Given the description of an element on the screen output the (x, y) to click on. 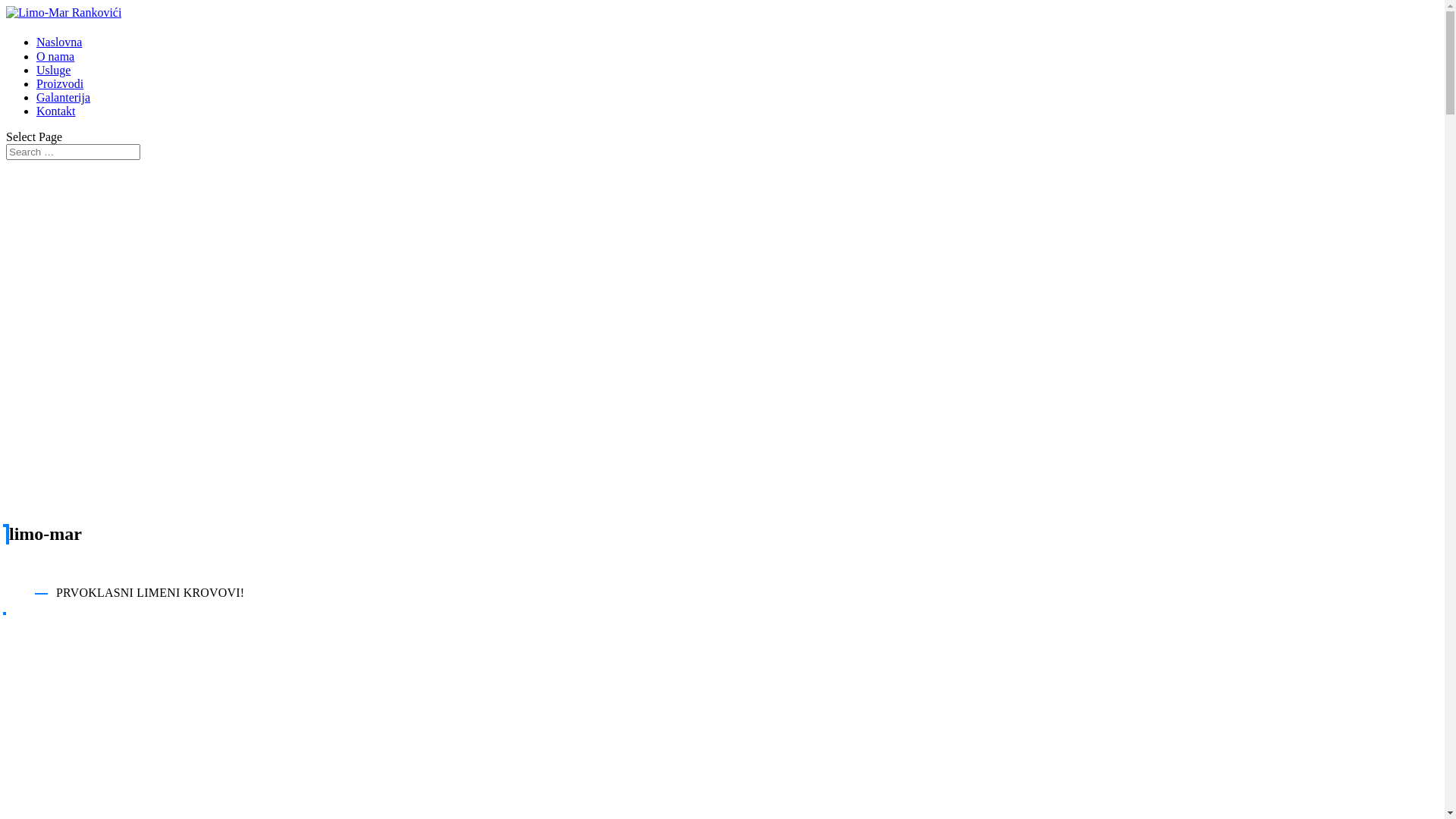
Proizvodi Element type: text (59, 83)
Usluge Element type: text (53, 69)
Search for: Element type: hover (73, 152)
Naslovna Element type: text (58, 41)
O nama Element type: text (55, 56)
Kontakt Element type: text (55, 110)
Galanterija Element type: text (63, 97)
